Given the description of an element on the screen output the (x, y) to click on. 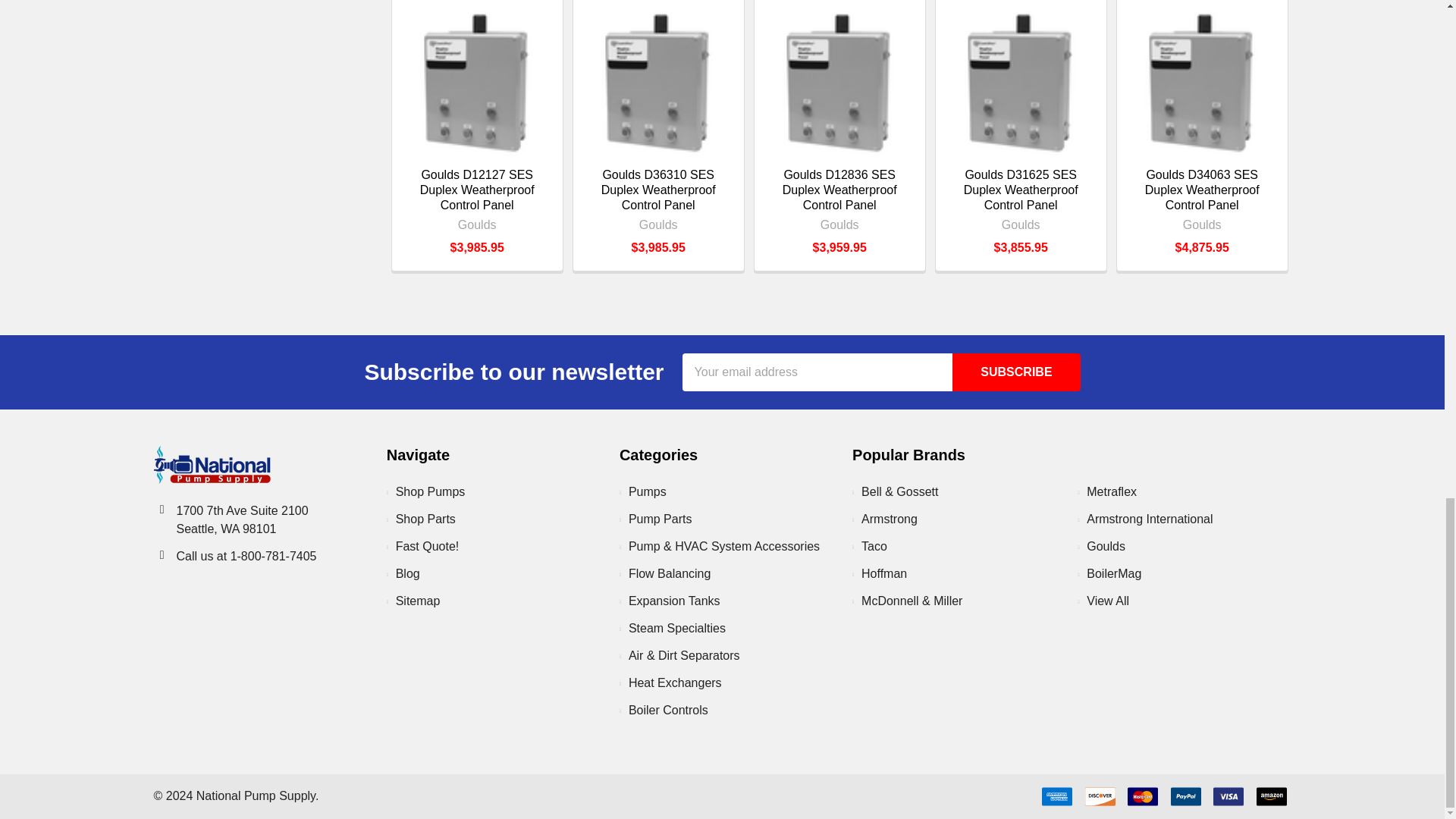
Goulds D36310 SES Duplex Weatherproof Control Panel (658, 81)
Subscribe (1016, 371)
National Pump Supply (210, 464)
Goulds D34063 SES Duplex Weatherproof Control Panel (1201, 81)
Goulds D31625 SES Duplex Weatherproof Control Panel (1020, 81)
Goulds D12836 SES Duplex Weatherproof Control Panel (838, 81)
Goulds D12127 SES Duplex Weatherproof Control Panel (477, 81)
